Given the description of an element on the screen output the (x, y) to click on. 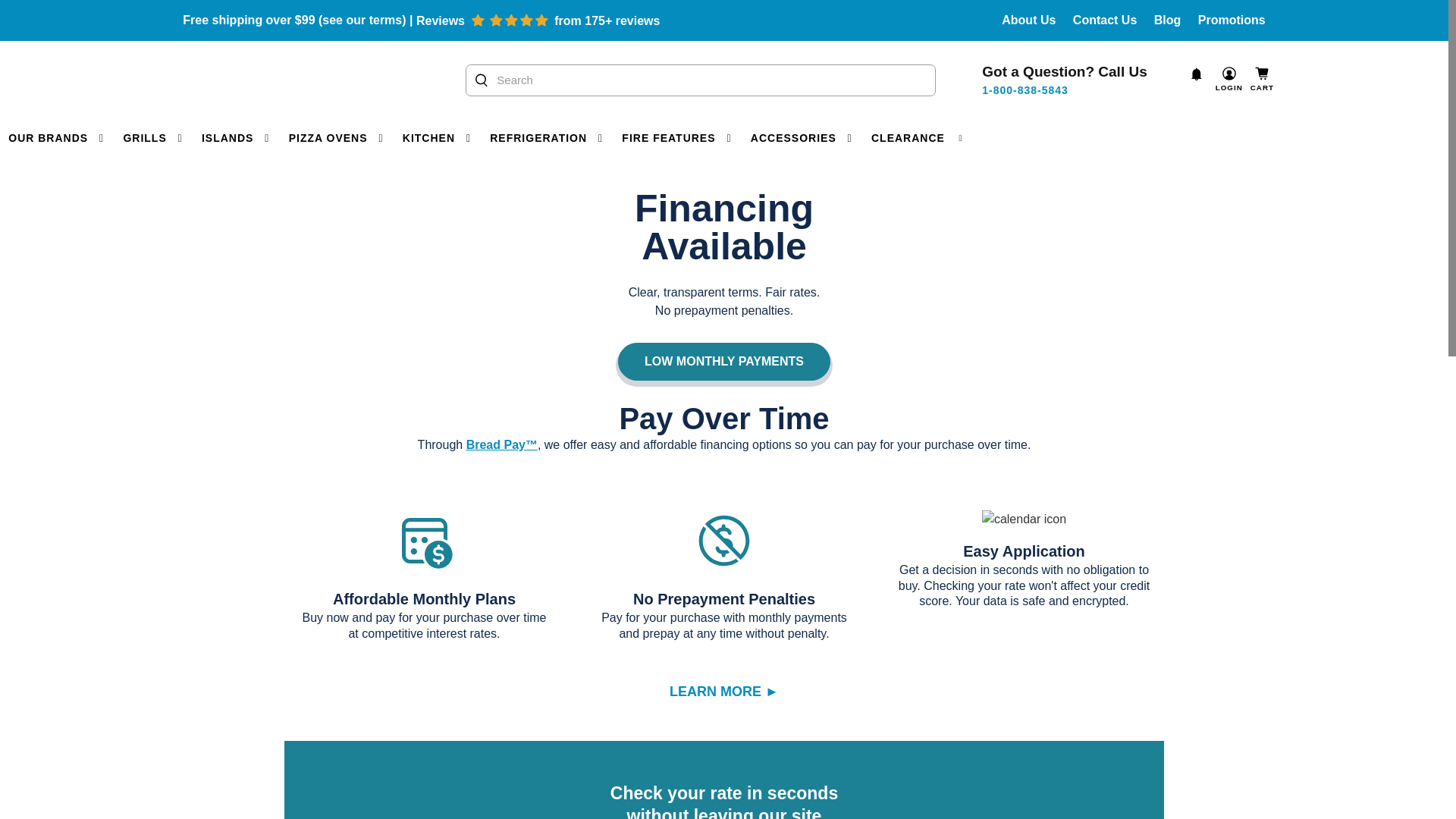
About Us (1028, 20)
Blog (1167, 20)
1-800-838-5843 (1024, 90)
OUR BRANDS (57, 138)
OutdoorKitchenPro (258, 79)
Contact Us (1104, 20)
Promotions (1231, 20)
